Given the description of an element on the screen output the (x, y) to click on. 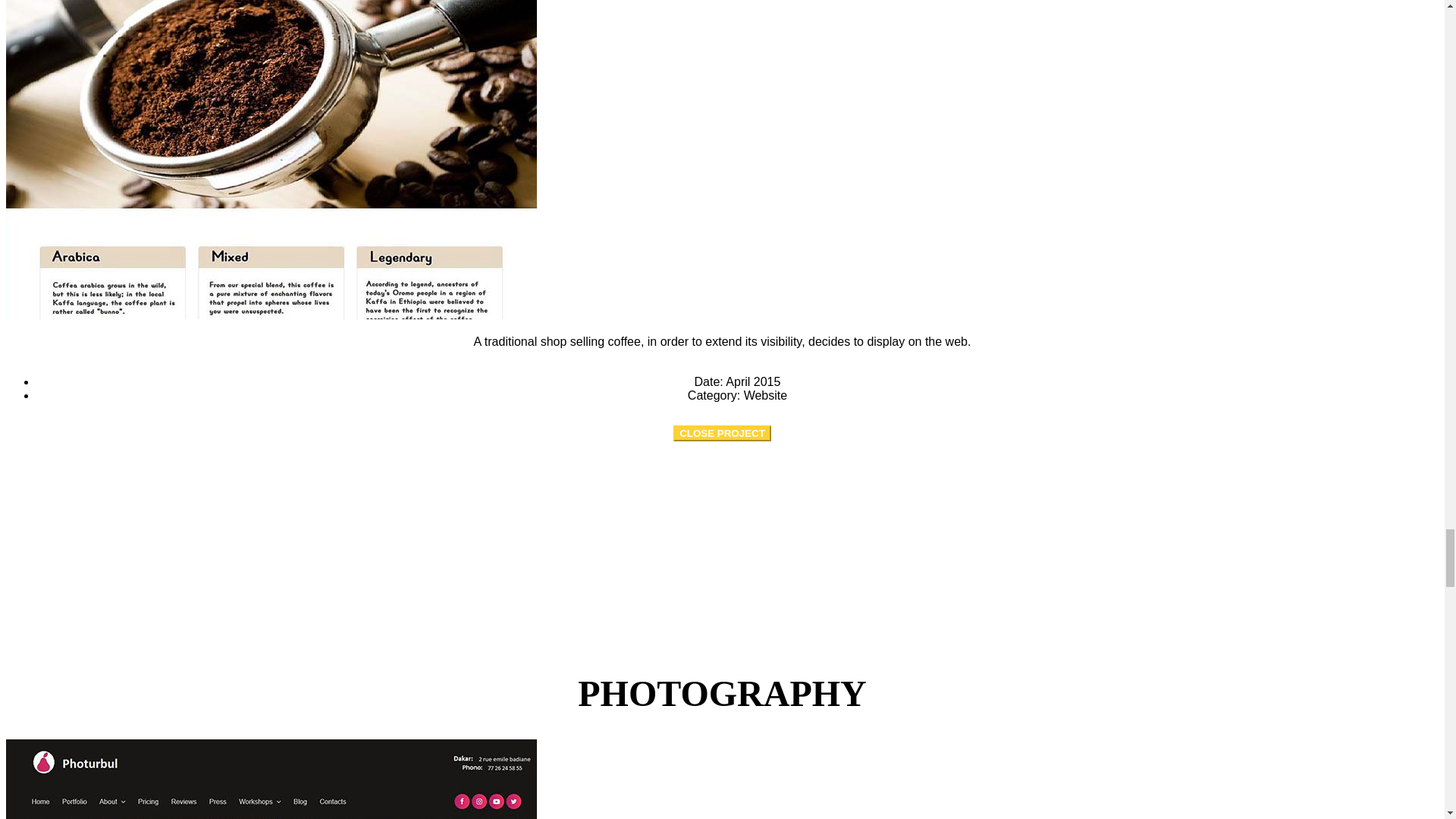
CLOSE PROJECT (721, 433)
